Given the description of an element on the screen output the (x, y) to click on. 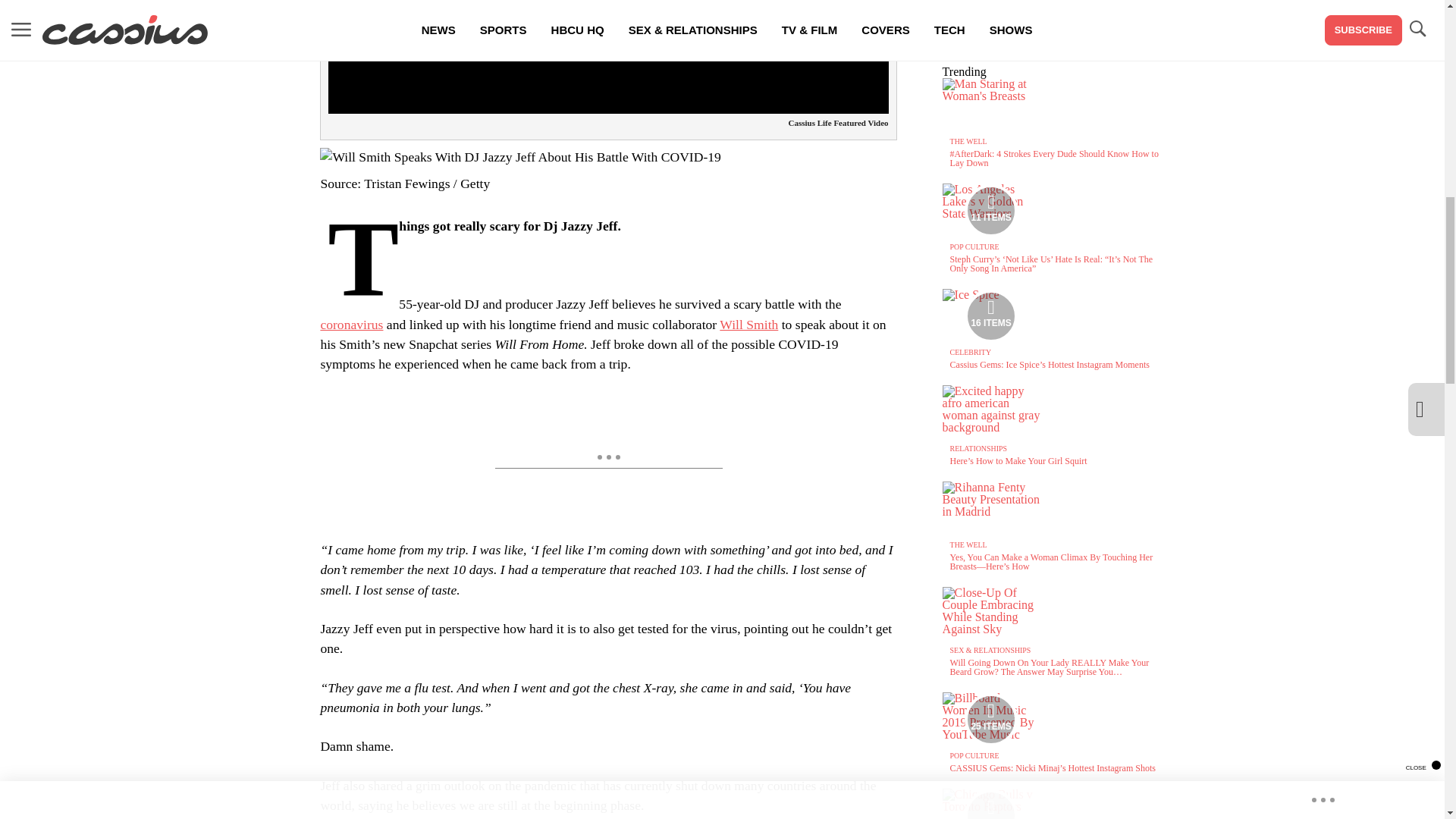
Will Smith (748, 324)
Media Playlist (990, 804)
Media Playlist (990, 210)
Media Playlist (990, 719)
coronavirus (351, 324)
THE WELL (968, 141)
Media Playlist (990, 316)
